Given the description of an element on the screen output the (x, y) to click on. 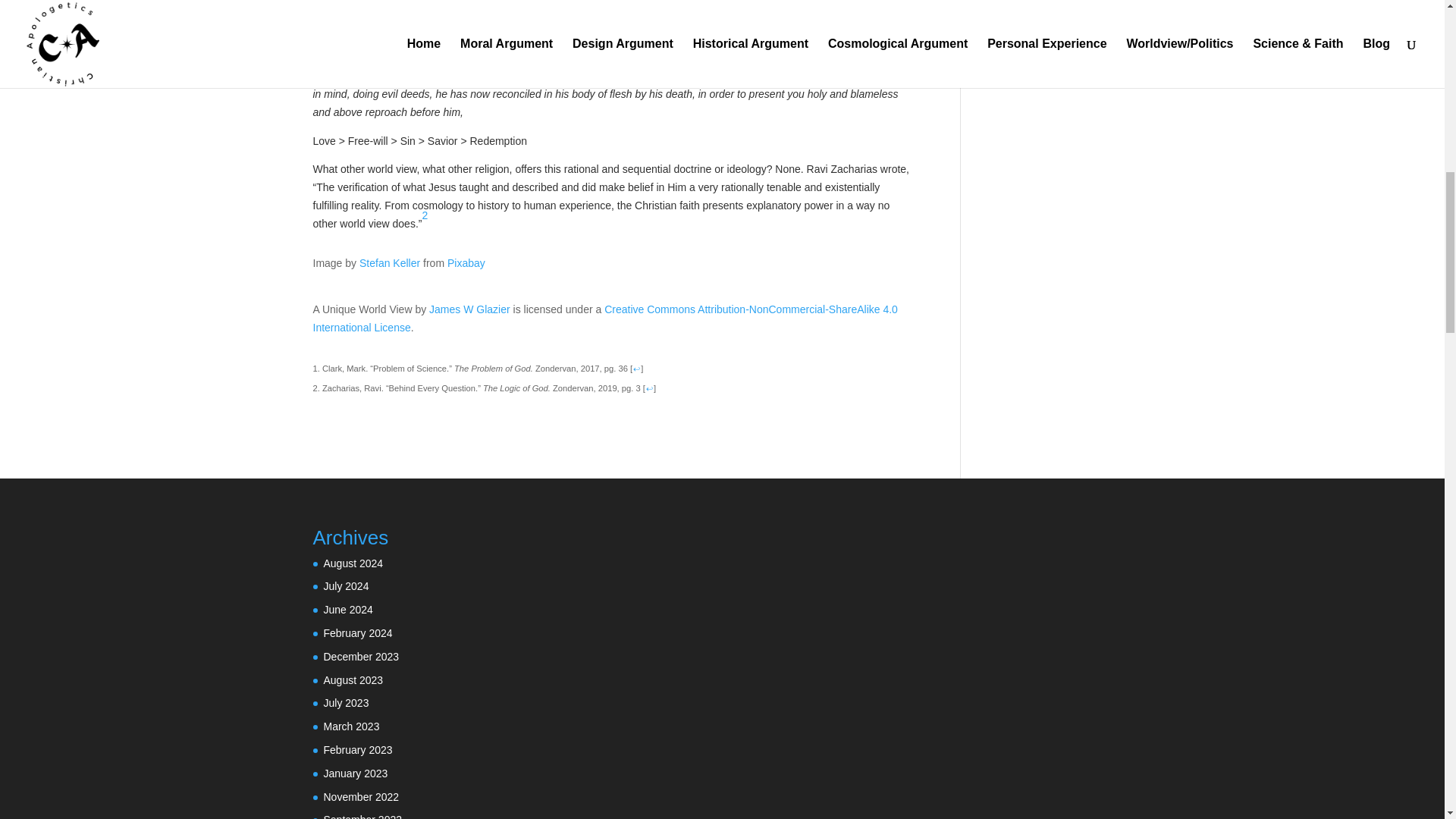
Pixabay (465, 263)
Colossians 1:20-22 (673, 57)
Ephesians 1:7 (637, 39)
Stefan Keller (389, 263)
